Given the description of an element on the screen output the (x, y) to click on. 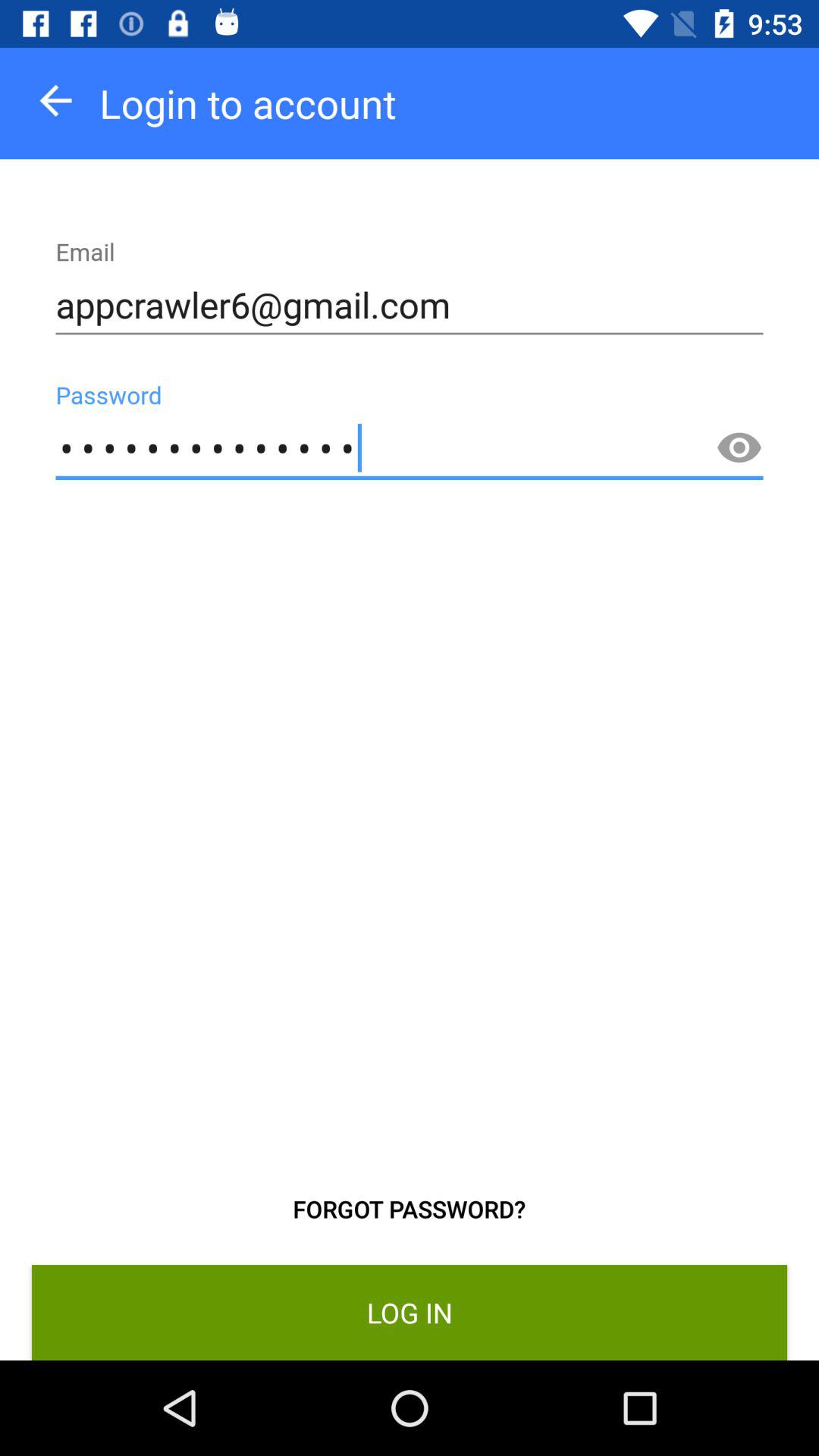
flip until appcrawler6@gmail.com item (409, 305)
